Given the description of an element on the screen output the (x, y) to click on. 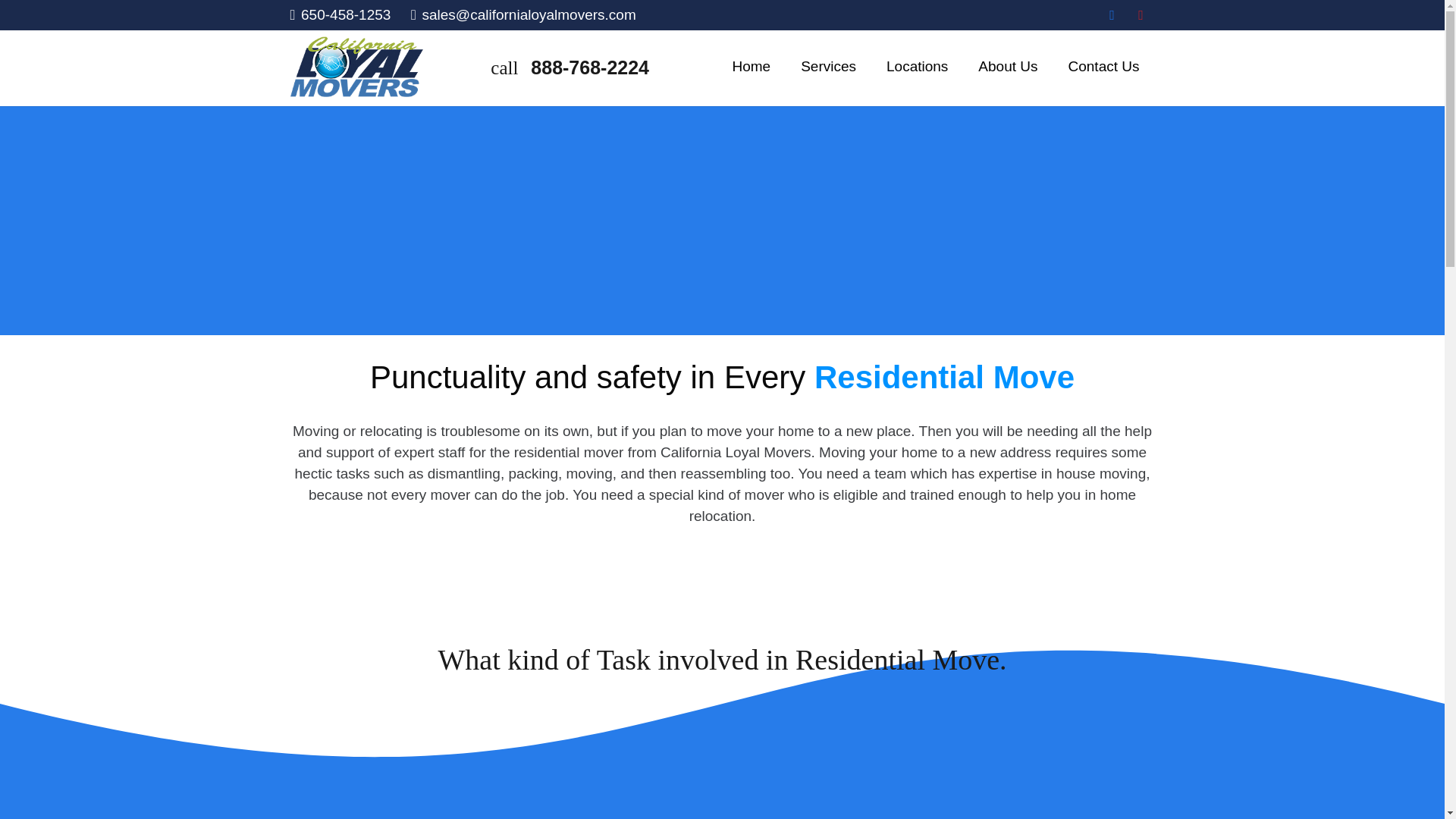
Locations (916, 66)
About Us (1007, 66)
Yelp (1140, 14)
Contact Us (1103, 66)
Home (751, 66)
Facebook (1112, 14)
Services (828, 66)
